Given the description of an element on the screen output the (x, y) to click on. 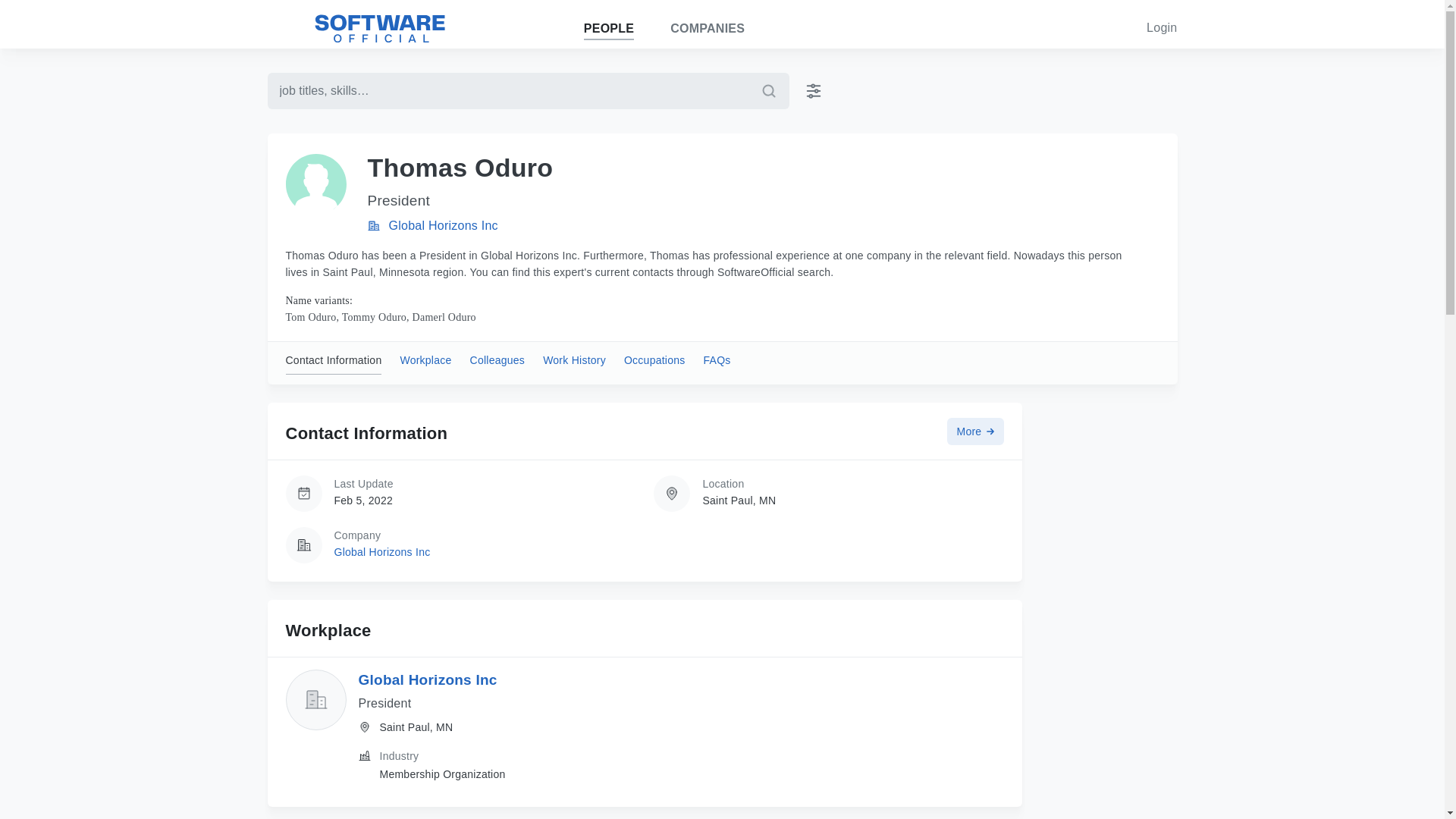
Global Horizons Inc (381, 551)
Global Horizons Inc (442, 225)
FAQs (716, 363)
Login (1161, 27)
Workplace (424, 363)
Occupations (654, 363)
More (975, 431)
Colleagues (497, 363)
Contact Information (333, 363)
Global Horizons Inc (427, 679)
COMPANIES (706, 28)
Work History (574, 363)
